Given the description of an element on the screen output the (x, y) to click on. 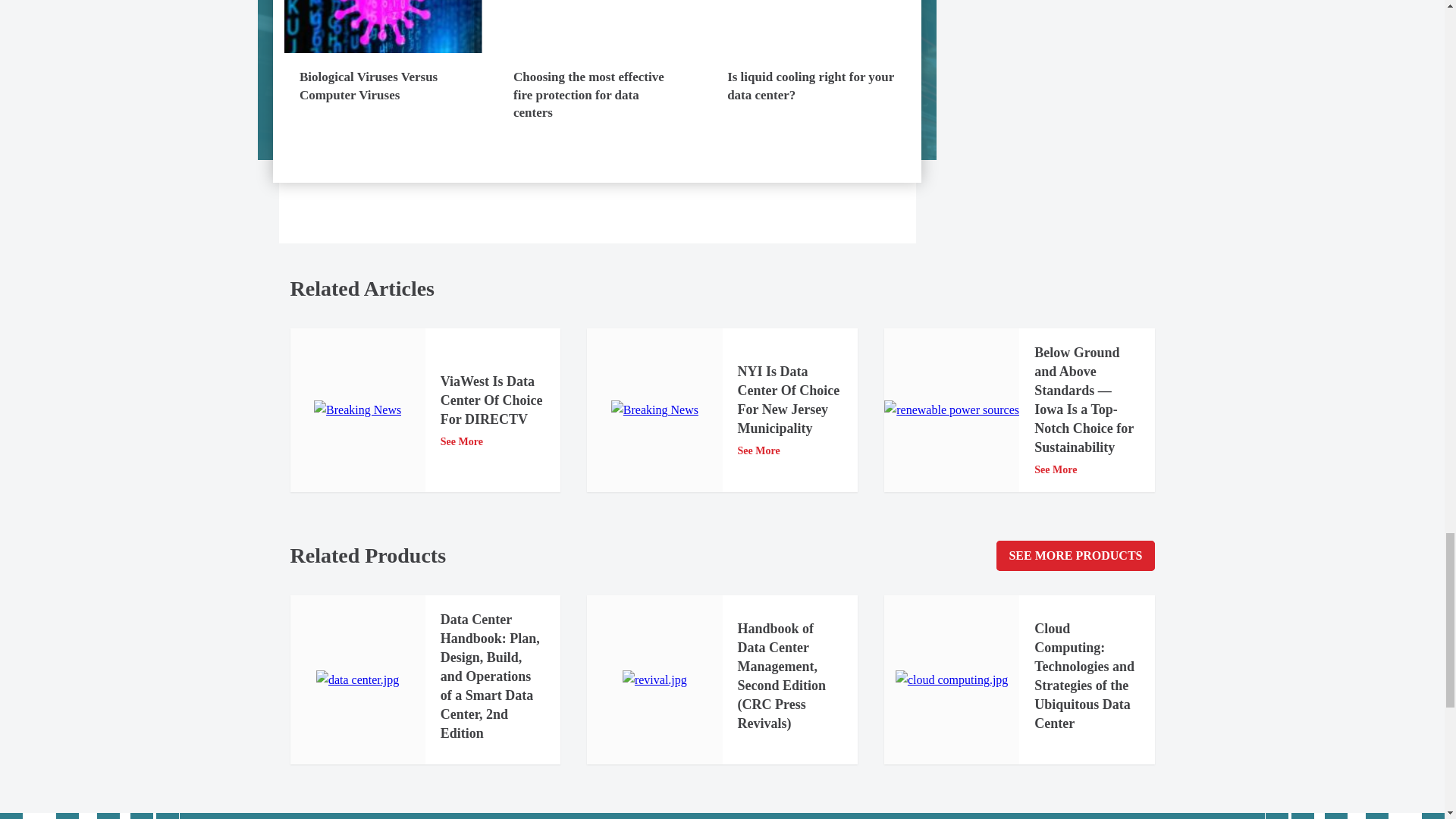
cloud computing.jpg (951, 680)
Virus main (382, 28)
Breaking News (654, 410)
Breaking News (357, 410)
data center.jpg (356, 680)
renewable power sources (951, 410)
Fire suppression technologies (596, 48)
revival.jpg (655, 680)
Liquid cooling main image (810, 48)
